Given the description of an element on the screen output the (x, y) to click on. 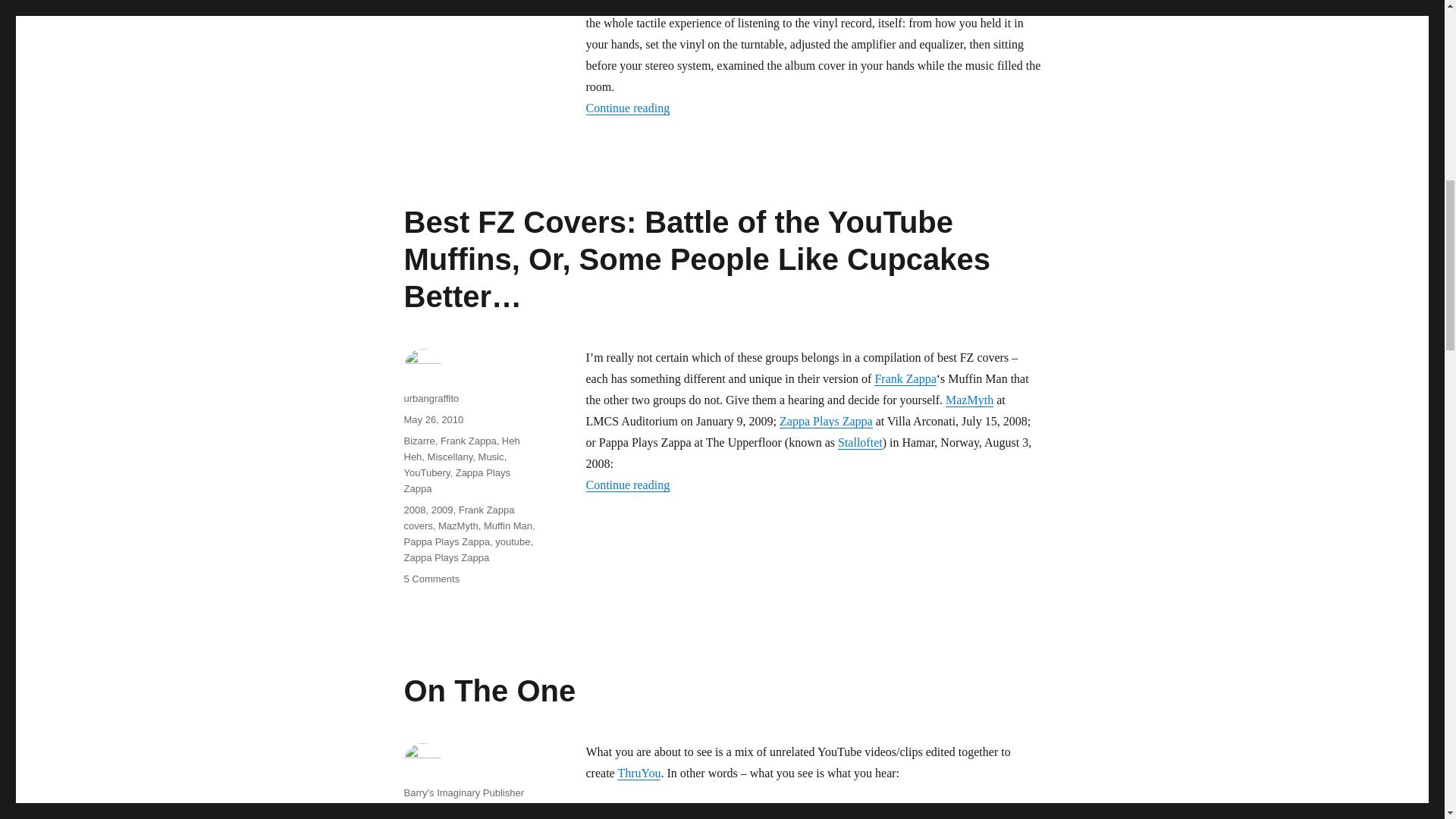
Zappa Plays Zappa (456, 480)
urbangraffito (430, 398)
YouTubery (426, 472)
2009 (441, 509)
Frank Zappa (468, 440)
Frank Zappa covers (458, 517)
MazMyth (458, 525)
Stalloftet (860, 441)
MazMyth (968, 399)
Heh Heh (461, 448)
2008 (414, 509)
Frank Zappa (905, 378)
Bizarre (418, 440)
Zappa Plays Zappa (825, 420)
Music (491, 456)
